Given the description of an element on the screen output the (x, y) to click on. 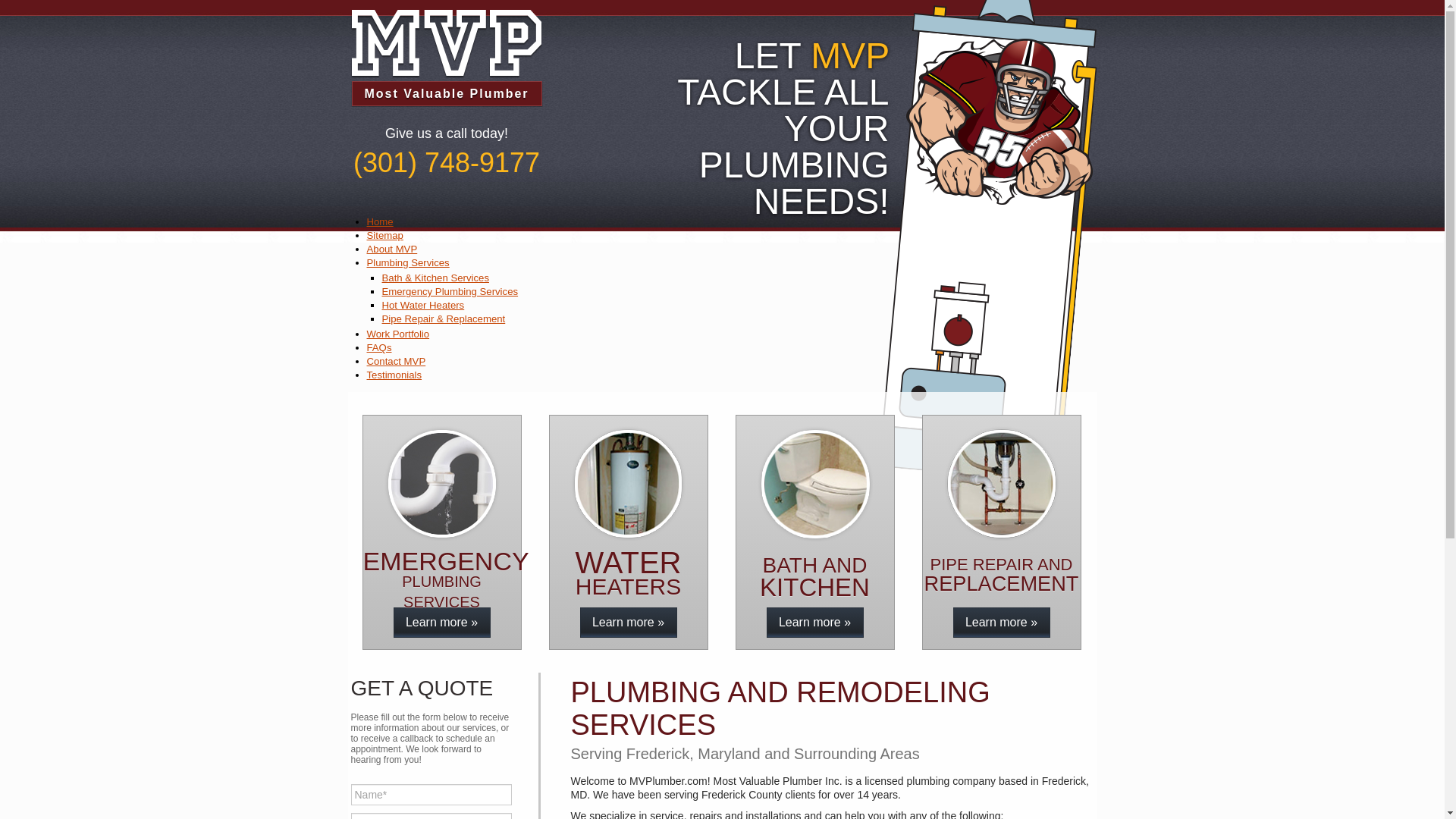
Home (379, 221)
Work Portfolio (397, 333)
Contact MVP (396, 360)
Emergency Plumbing Services (449, 291)
FAQs (378, 347)
Most Valuable Plumber (445, 53)
Hot Water Heater Repair in Frederick, Maryland (628, 622)
Plumber in Frederick, MD (814, 622)
Testimonials (394, 374)
Hot Water Heaters (422, 305)
Sitemap (384, 235)
Emergency Plumbing Services in Frederick, Maryland (441, 622)
Plumbing Services (407, 262)
Plumbing in Frederick, Maryland (445, 53)
About MVP (391, 248)
